Given the description of an element on the screen output the (x, y) to click on. 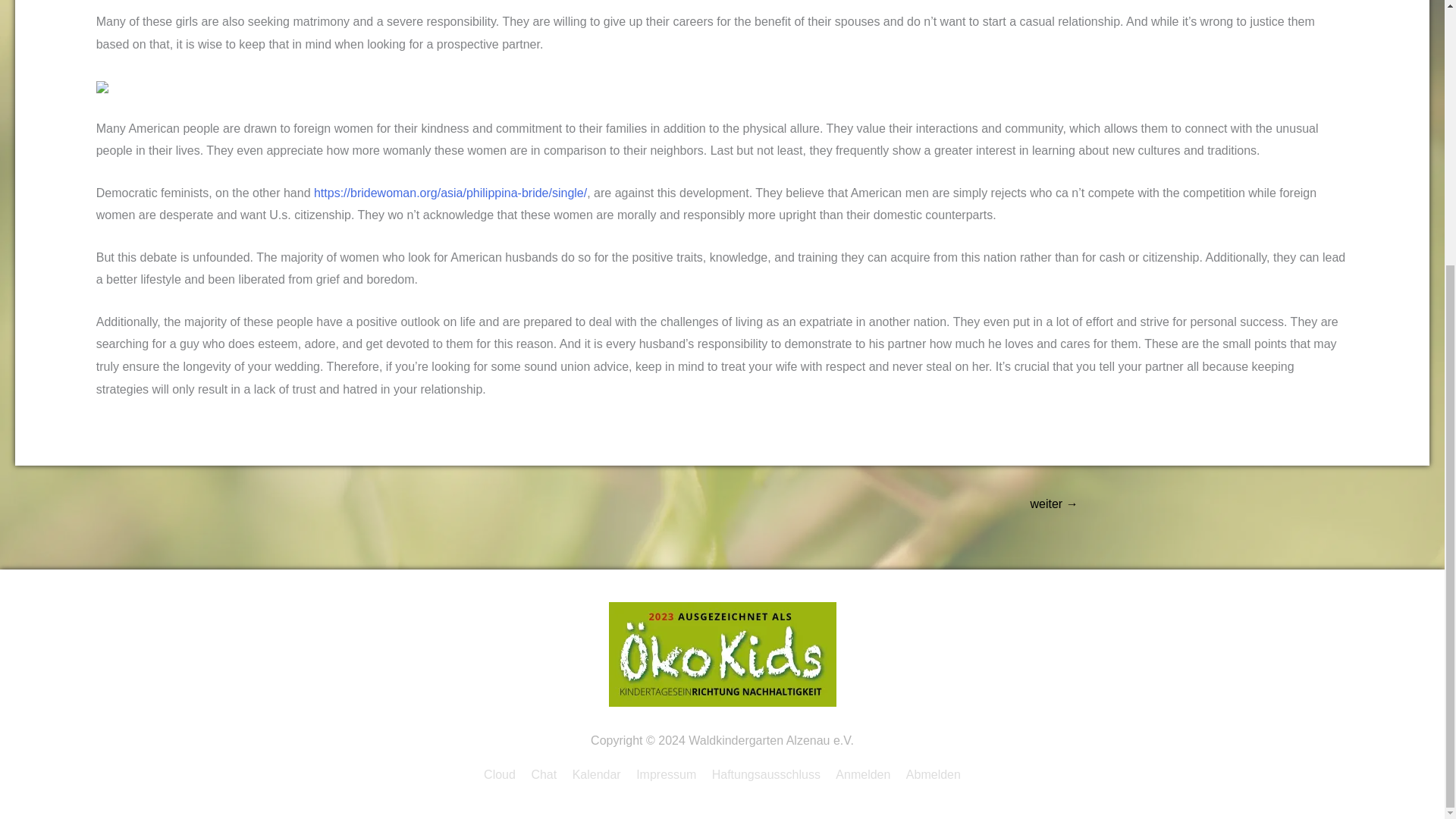
Anmelden (862, 774)
Impressum (665, 774)
Cloud (502, 774)
Chat (543, 774)
Abmelden (929, 774)
Kalendar (596, 774)
Haftungsausschluss (766, 774)
